Given the description of an element on the screen output the (x, y) to click on. 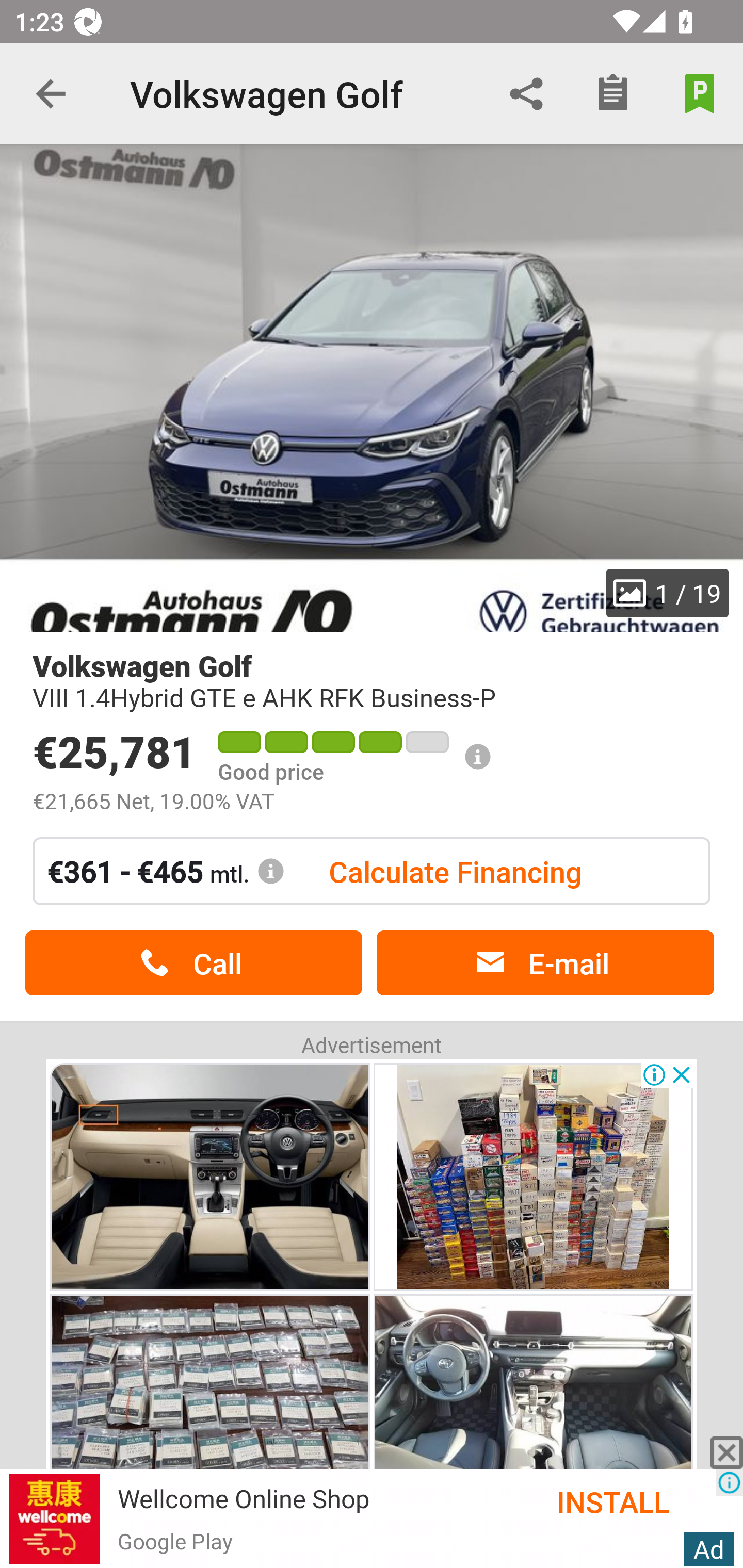
Navigate up (50, 93)
Share via (525, 93)
Checklist (612, 93)
Park (699, 93)
Calculate Financing (454, 870)
€361 - €465 mtl. (165, 870)
Call (193, 963)
E-mail (545, 963)
Ad Choices Icon (729, 1482)
INSTALL (635, 1500)
Wellcome Online Shop (243, 1497)
Google Play (174, 1540)
